Given the description of an element on the screen output the (x, y) to click on. 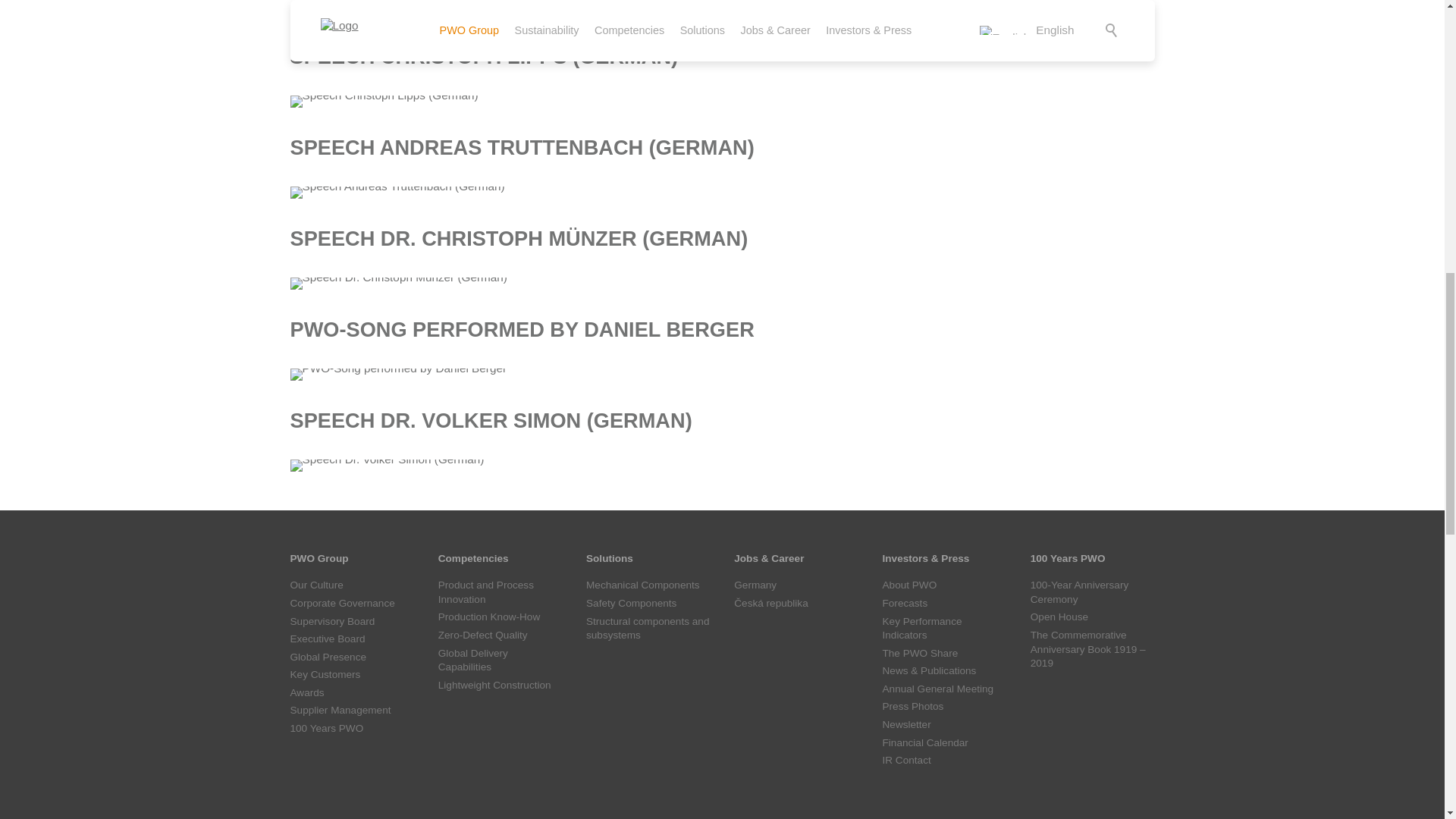
PWO-Song performed by Daniel Berger (397, 374)
